Given the description of an element on the screen output the (x, y) to click on. 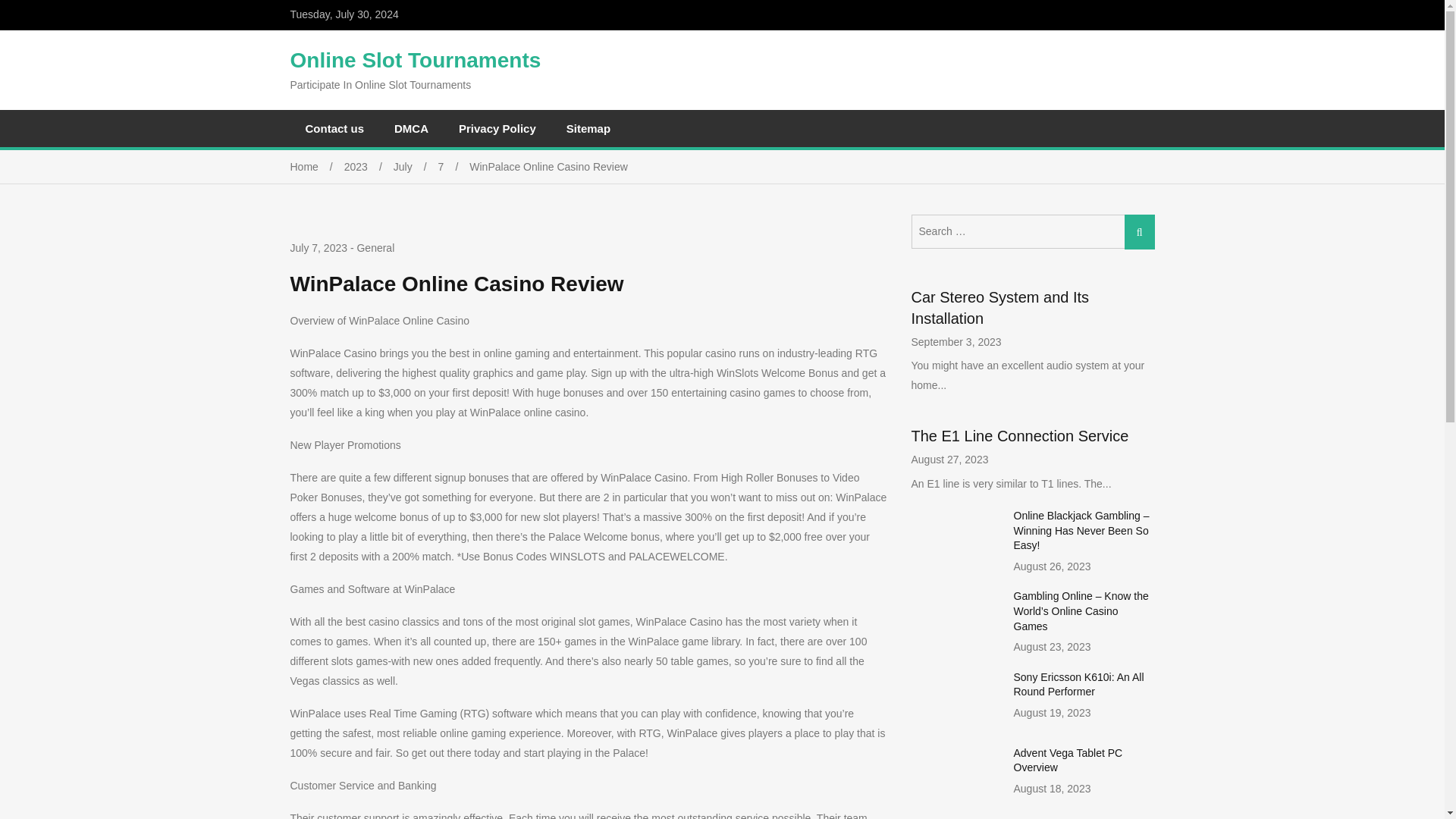
Car Stereo System and Its Installation (1000, 307)
The E1 Line Connection Service (1020, 435)
Privacy Policy (497, 128)
July 7, 2023 (318, 248)
Online Slot Tournaments (414, 60)
General (375, 247)
Advent Vega Tablet PC Overview (1067, 759)
Home (316, 166)
Sony Ericsson K610i: An All Round Performer (1077, 684)
2023 (368, 166)
Contact us (333, 128)
7 (454, 166)
DMCA (411, 128)
Sitemap (588, 128)
July (415, 166)
